Given the description of an element on the screen output the (x, y) to click on. 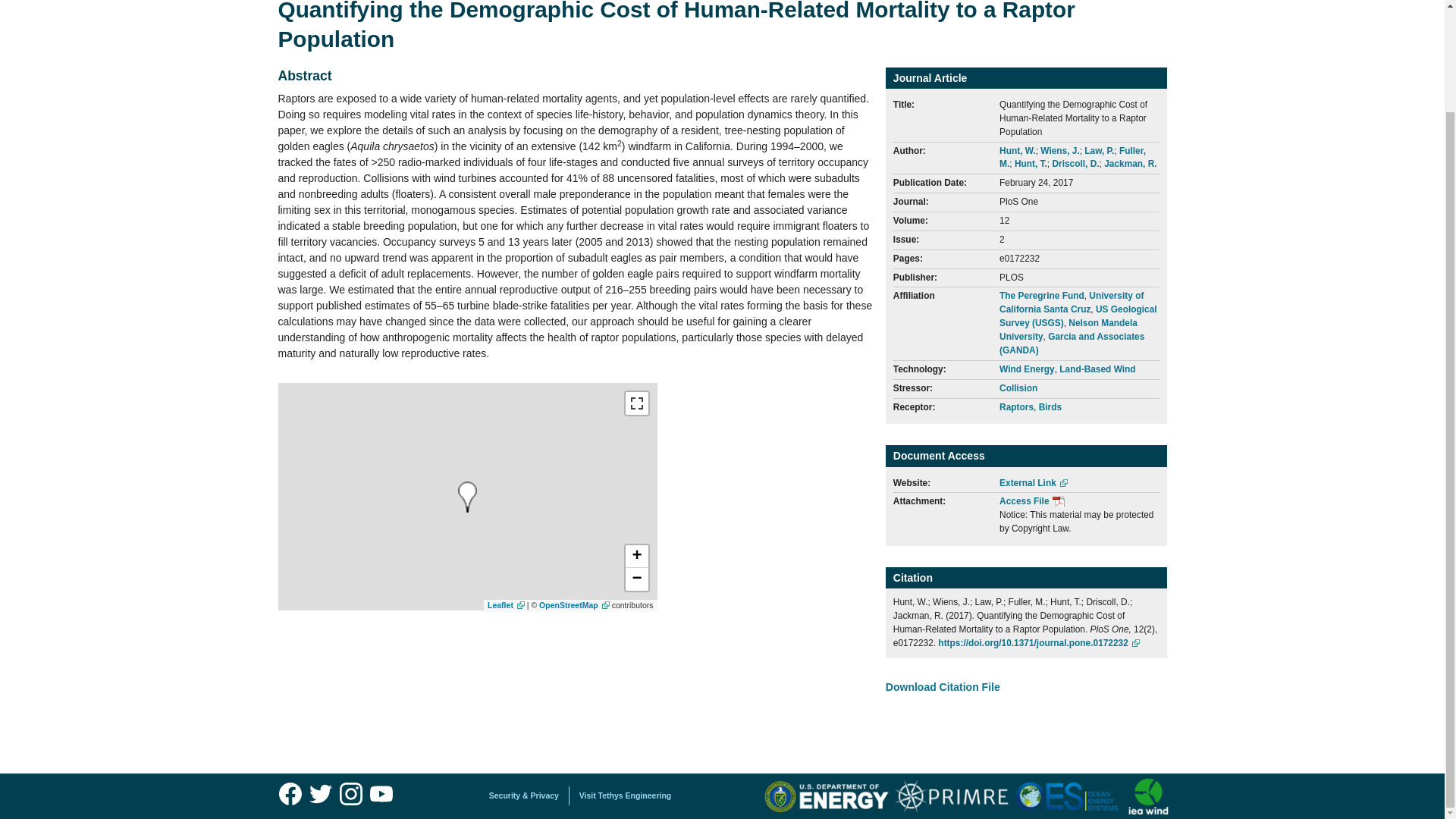
View Fullscreen (635, 403)
Zoom out (635, 579)
A JavaScript library for interactive maps (505, 604)
Zoom in (635, 556)
